Given the description of an element on the screen output the (x, y) to click on. 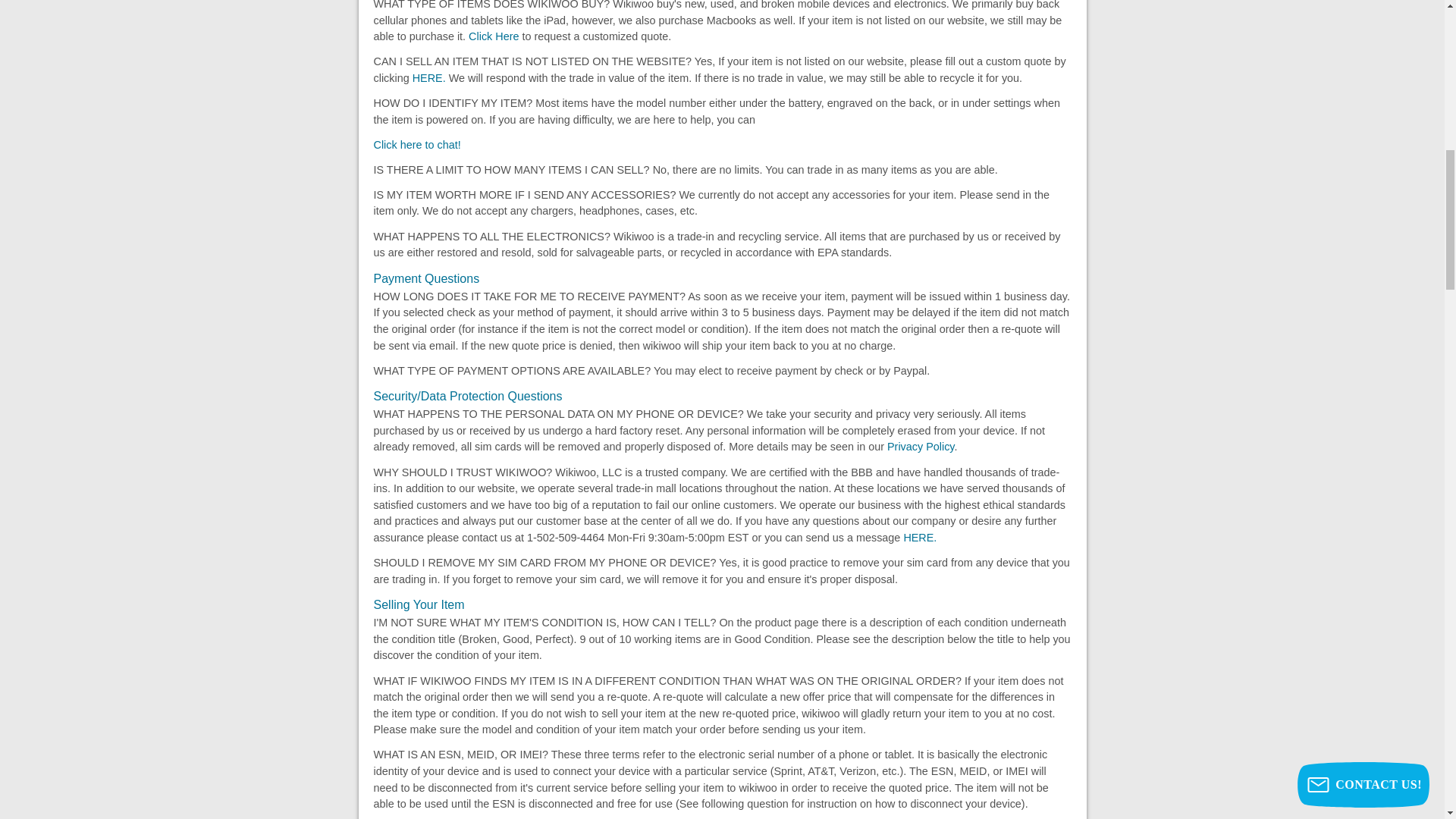
Click Here (493, 36)
